Given the description of an element on the screen output the (x, y) to click on. 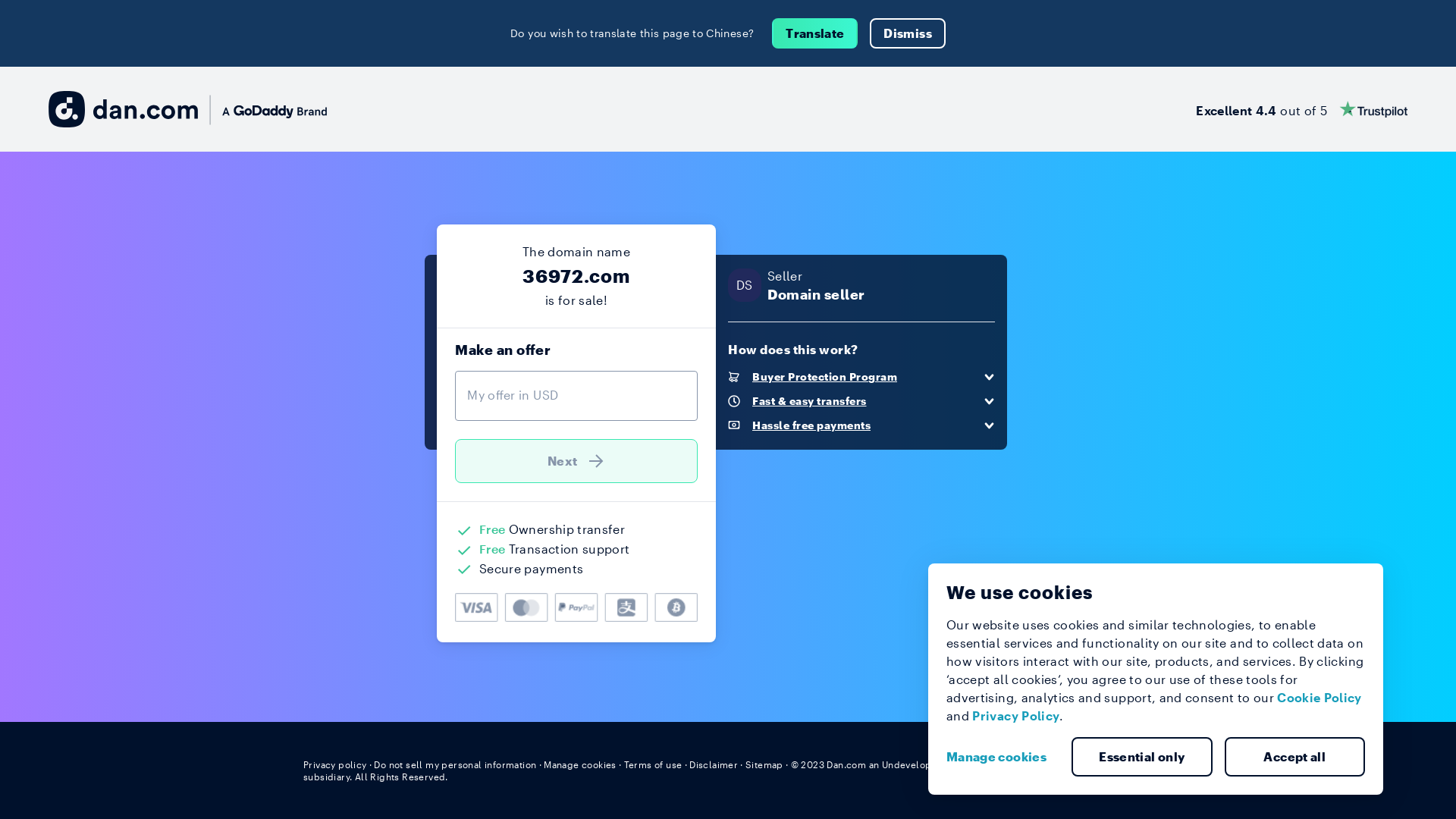
Dismiss Element type: text (906, 33)
Manage cookies Element type: text (1002, 756)
Sitemap Element type: text (764, 764)
Next
) Element type: text (576, 461)
Manage cookies Element type: text (579, 764)
Accept all Element type: text (1294, 756)
Translate Element type: text (814, 33)
Privacy policy Element type: text (335, 764)
Terms of use Element type: text (653, 764)
Disclaimer Element type: text (713, 764)
Do not sell my personal information Element type: text (454, 764)
Privacy Policy Element type: text (1015, 715)
Excellent 4.4 out of 5 Element type: text (1301, 109)
Essential only Element type: text (1141, 756)
English Element type: text (1124, 764)
Cookie Policy Element type: text (1319, 697)
